Given the description of an element on the screen output the (x, y) to click on. 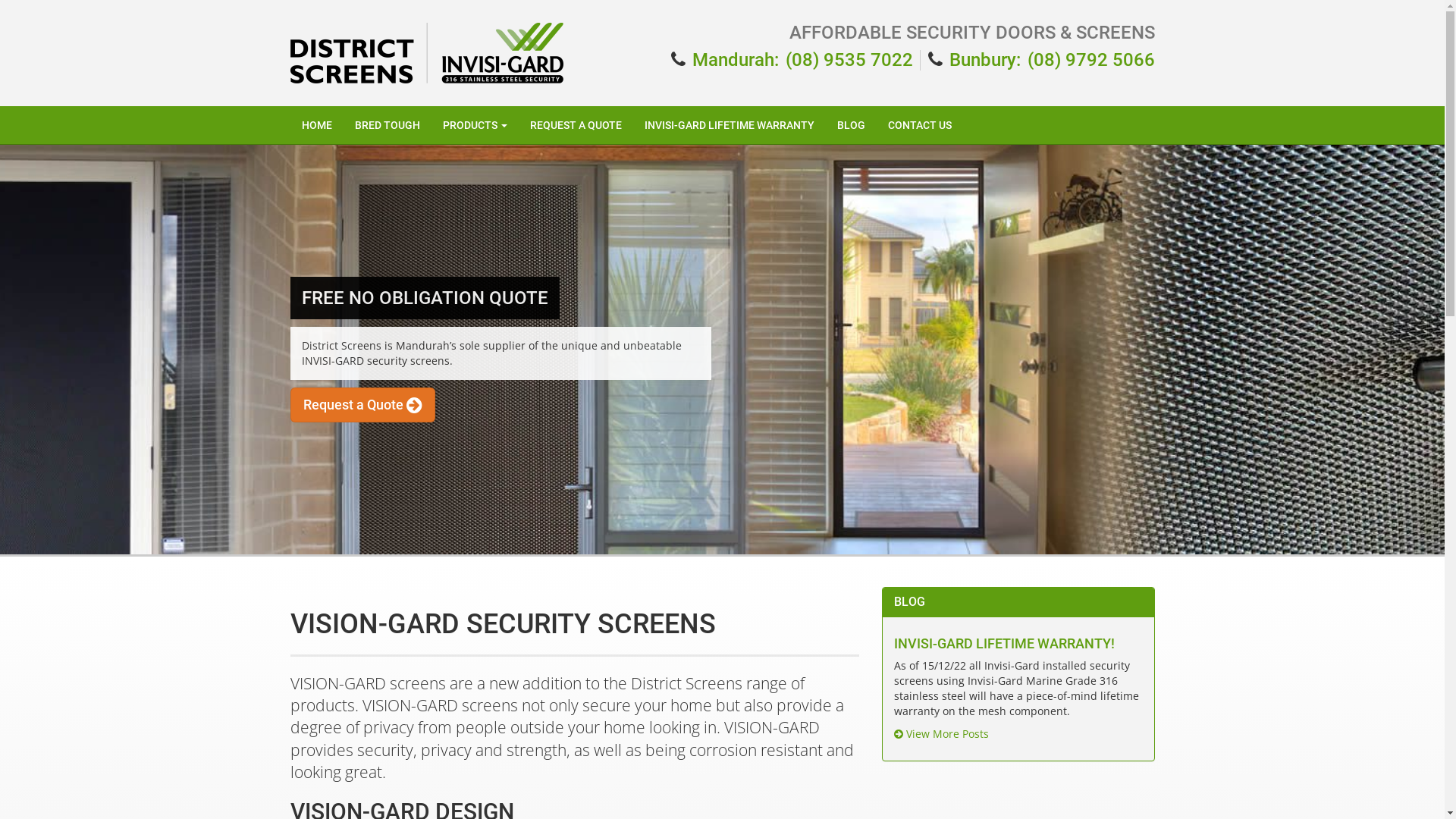
BLOG Element type: text (850, 125)
CONTACT US Element type: text (919, 125)
INVISI-GARD LIFETIME WARRANTY! Element type: text (1003, 643)
PRODUCTS Element type: text (473, 125)
District Screens Logo Element type: hover (425, 52)
INVISI-GARD LIFETIME WARRANTY Element type: text (728, 125)
BRED TOUGH Element type: text (386, 125)
Request a Quote Element type: text (361, 404)
(08) 9535 7022 Element type: text (849, 59)
HOME Element type: text (315, 125)
View More Posts Element type: text (940, 733)
(08) 9792 5066 Element type: text (1090, 59)
REQUEST A QUOTE Element type: text (575, 125)
